Given the description of an element on the screen output the (x, y) to click on. 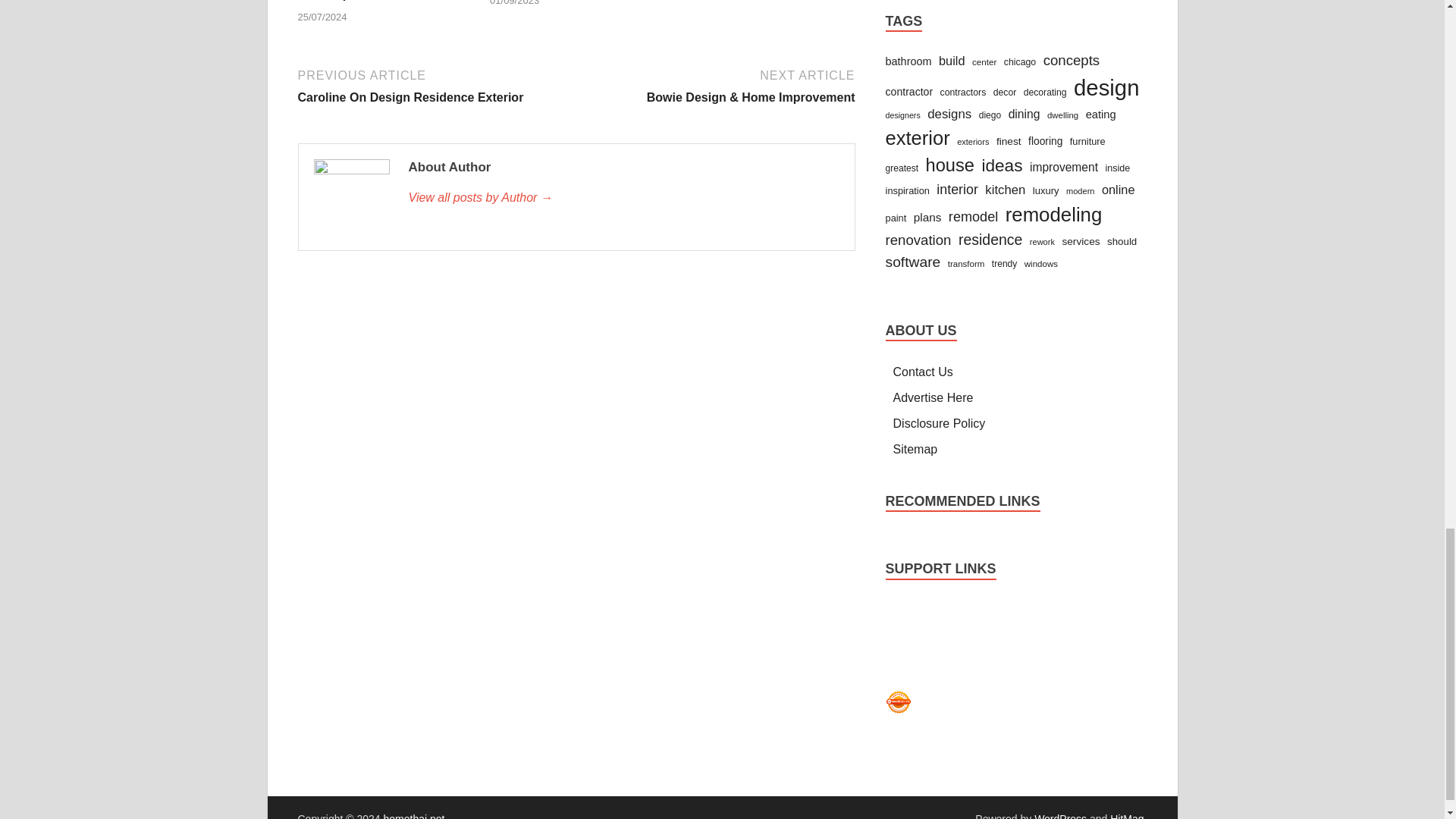
Seedbacklink (898, 701)
Author (622, 198)
